Given the description of an element on the screen output the (x, y) to click on. 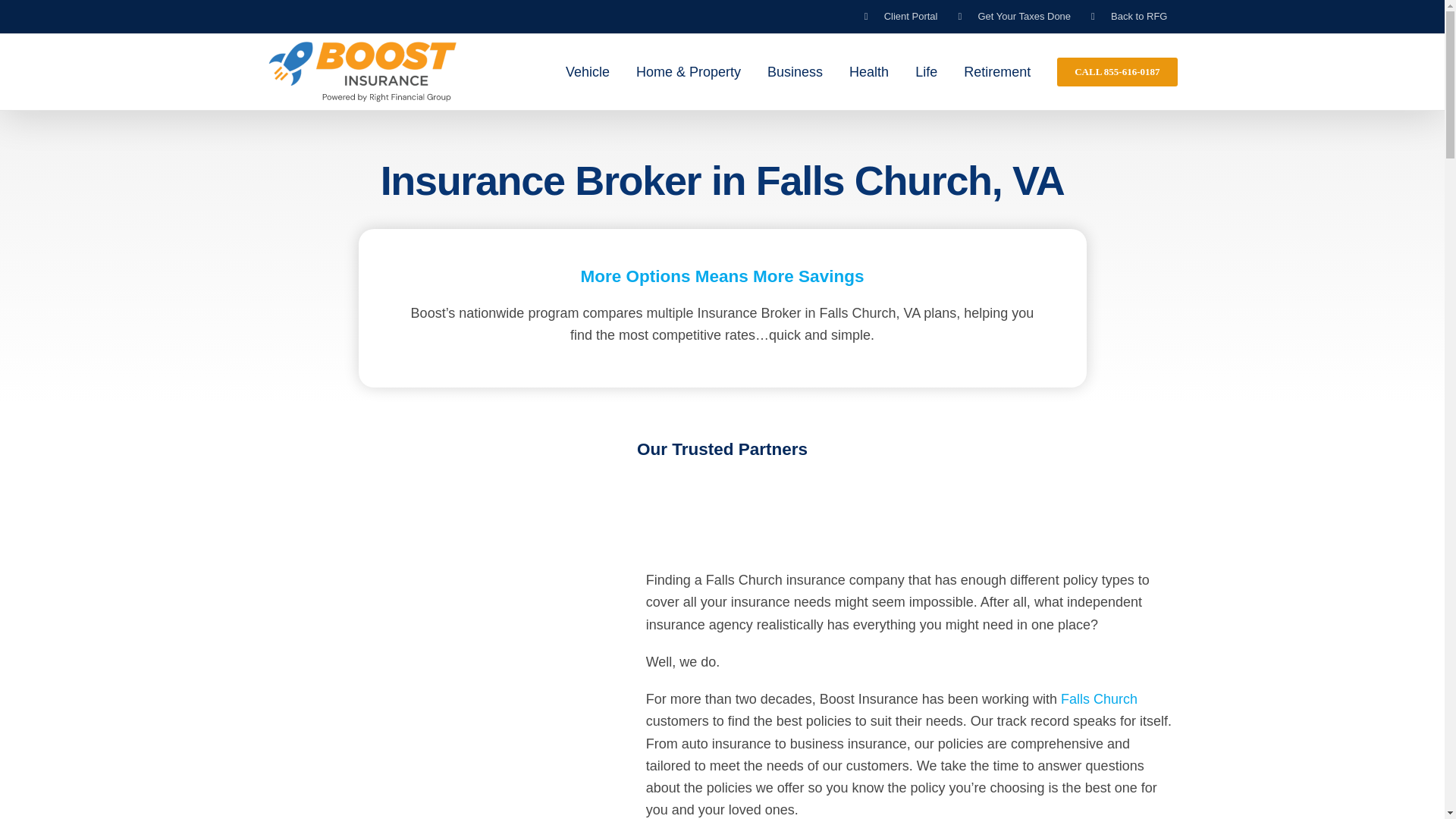
Back to RFG (1128, 16)
Get Your Taxes Done (1013, 16)
Client Portal (900, 16)
CALL 855-616-0187 (1116, 71)
